Given the description of an element on the screen output the (x, y) to click on. 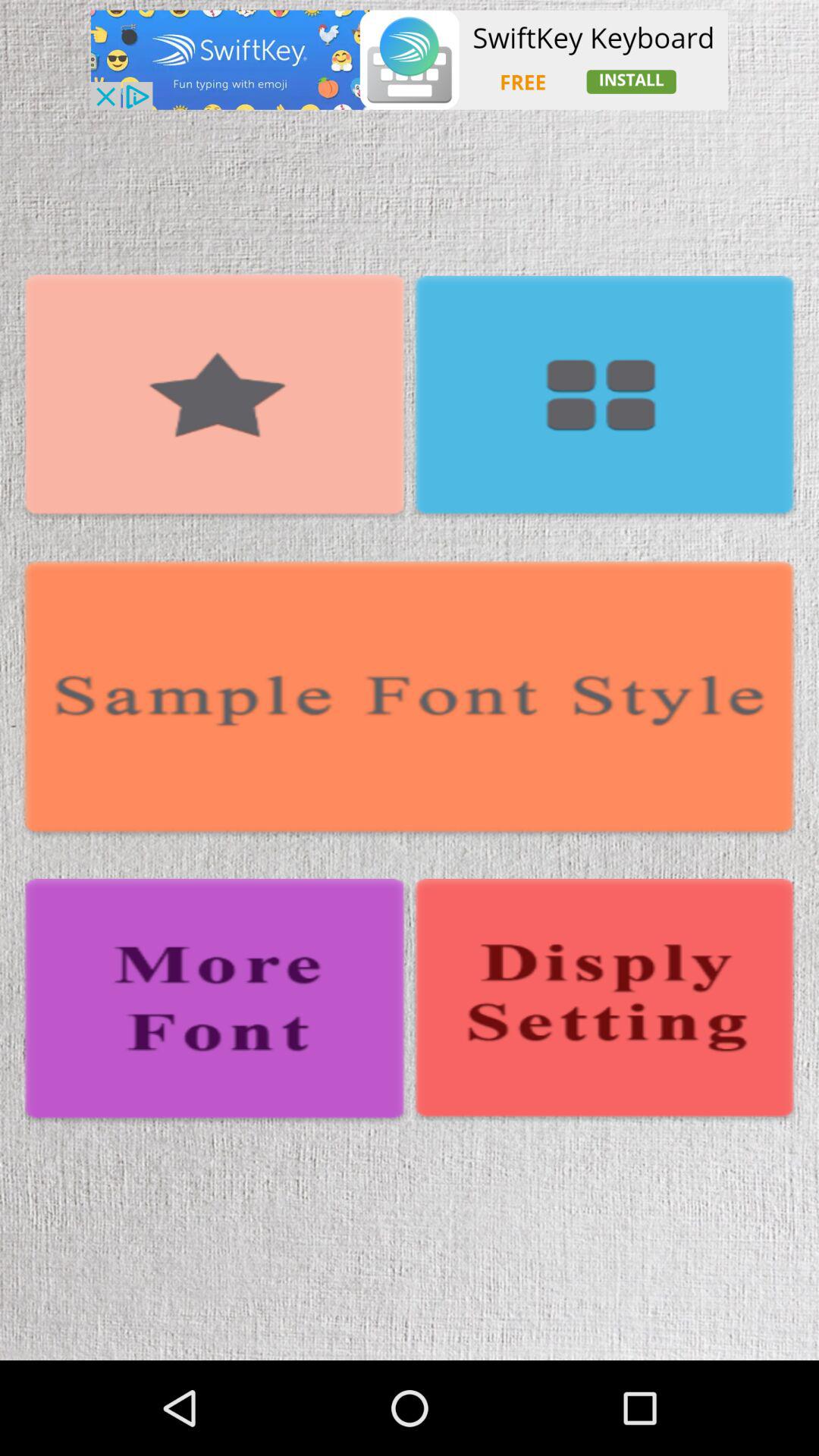
see advertisement (409, 59)
